Given the description of an element on the screen output the (x, y) to click on. 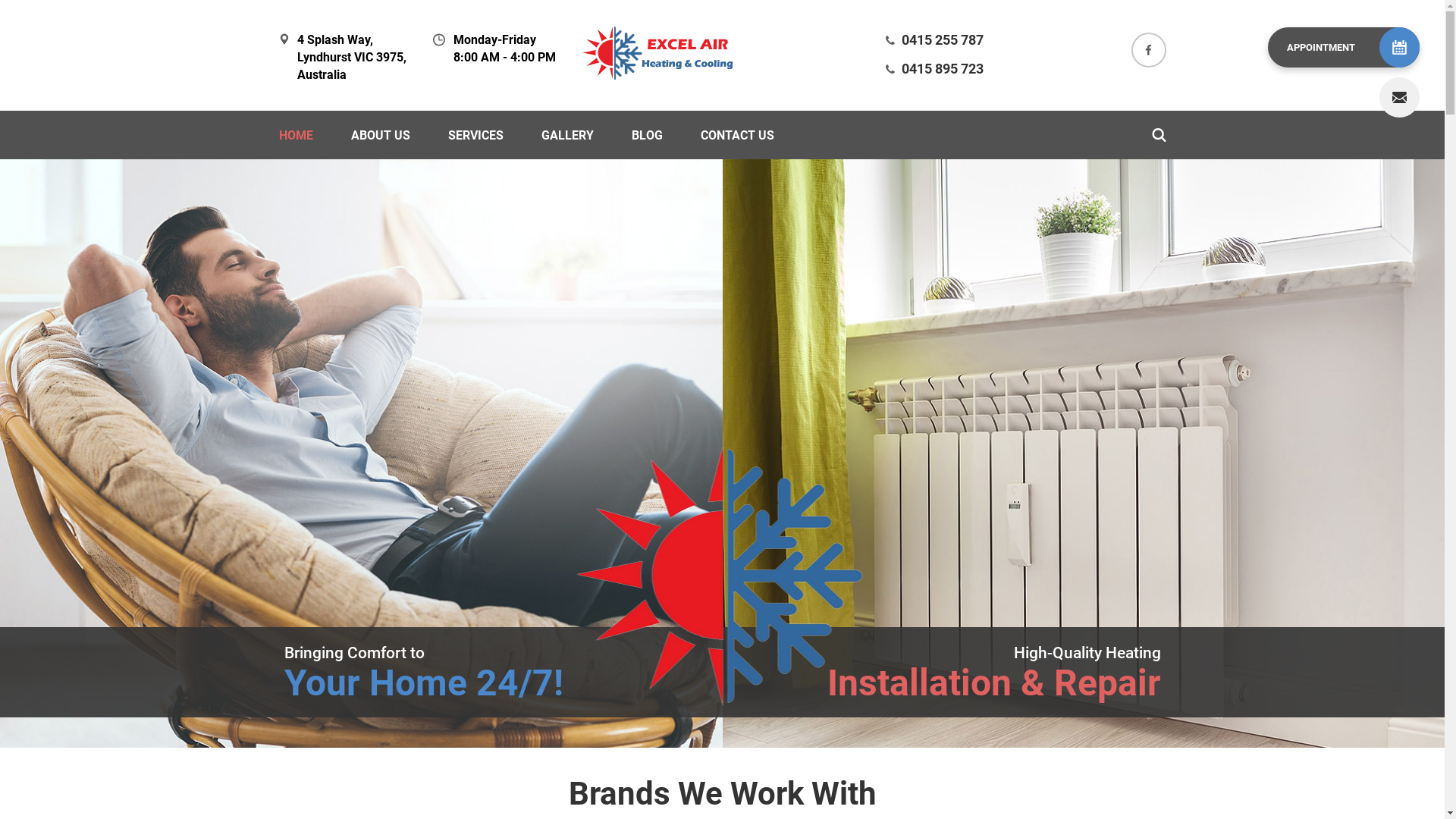
HOME Element type: text (296, 135)
CONTACT US Element type: text (737, 135)
Send Message Element type: text (665, 644)
submit Element type: text (645, 667)
SERVICES Element type: text (474, 135)
APPOINTMENT Element type: text (1343, 47)
ABOUT US Element type: text (379, 135)
GALLERY Element type: text (567, 135)
BLOG Element type: text (646, 135)
